Given the description of an element on the screen output the (x, y) to click on. 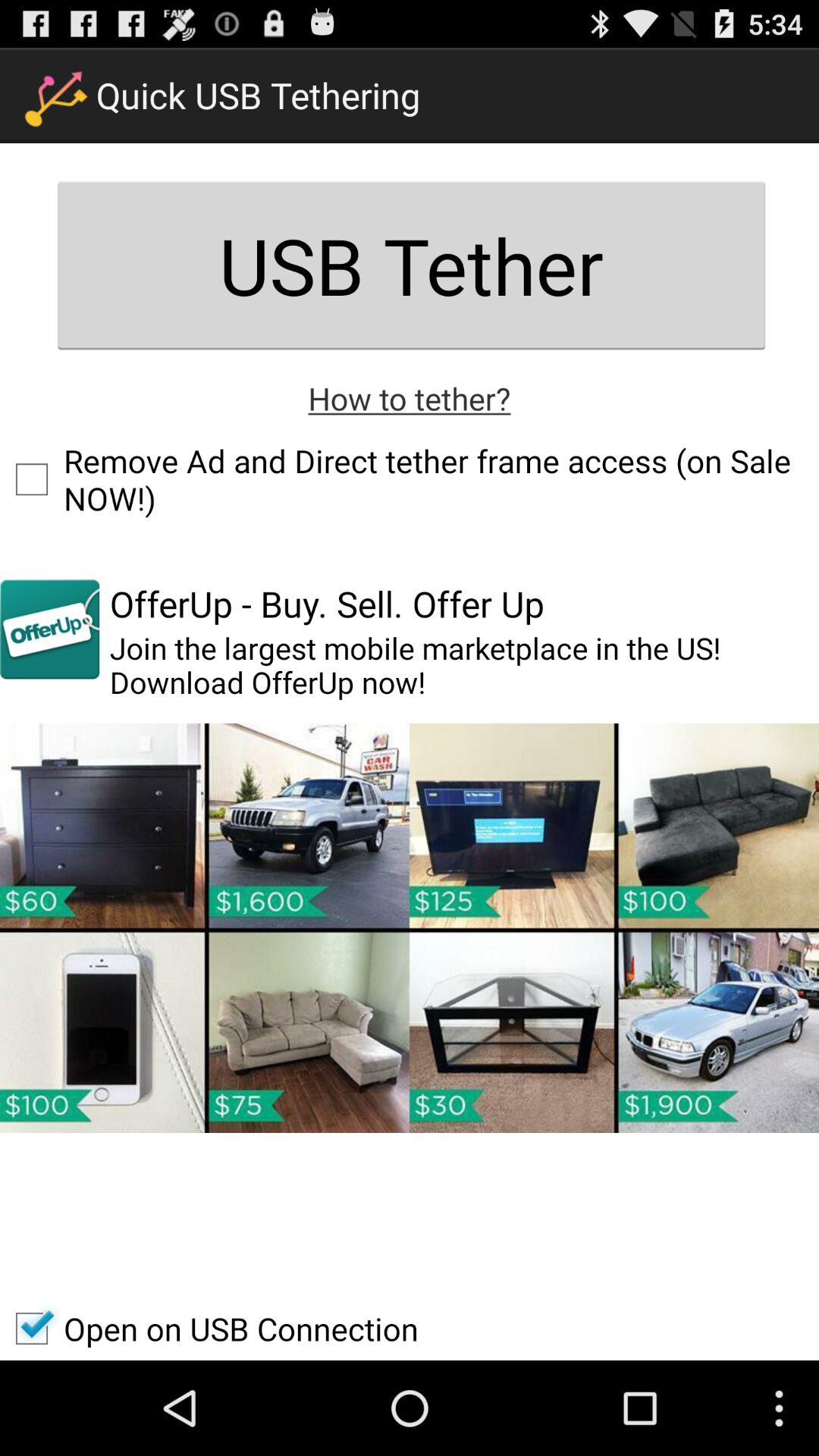
launch open on usb (209, 1328)
